Given the description of an element on the screen output the (x, y) to click on. 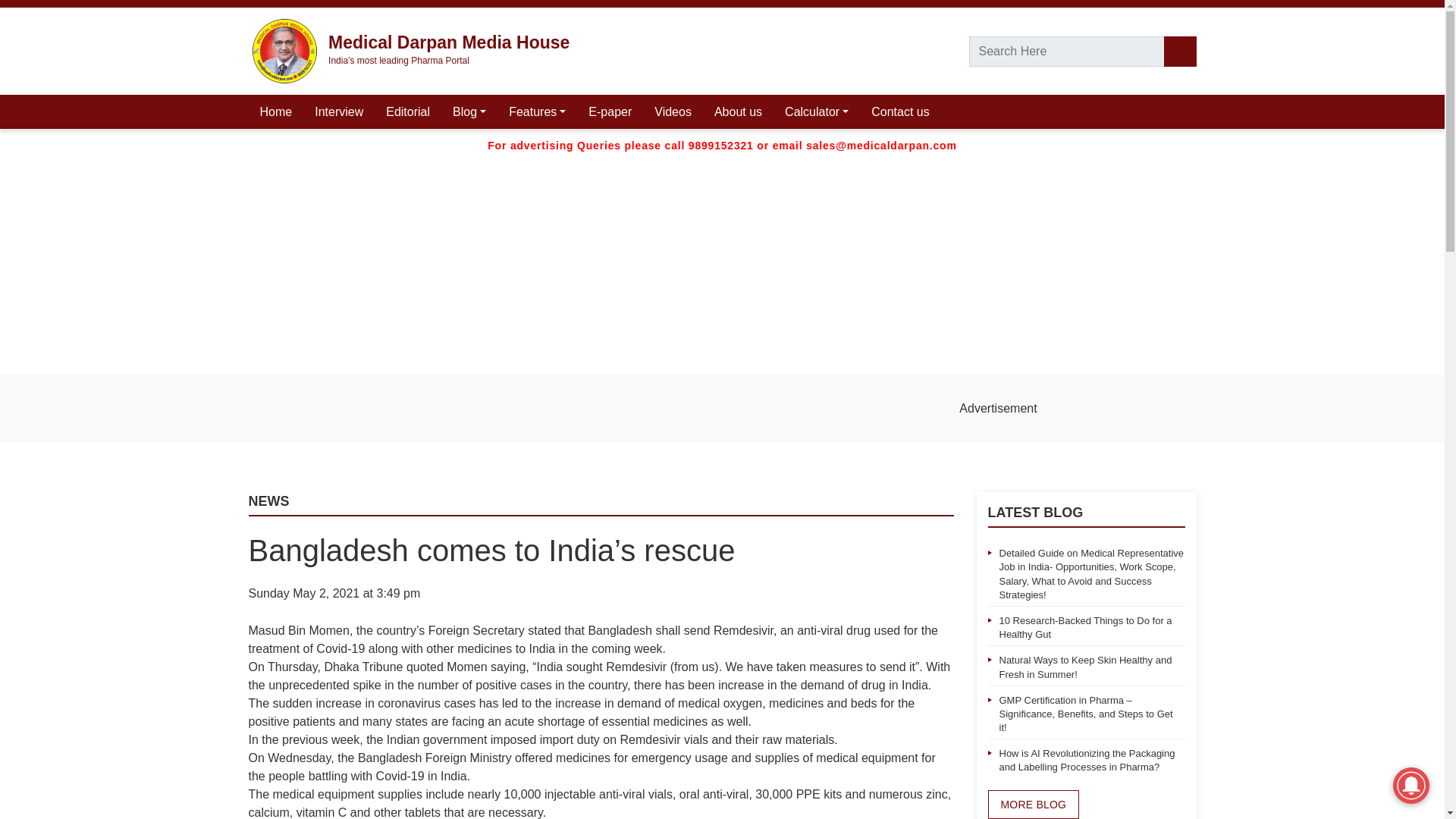
Features (536, 111)
Interview (338, 111)
Home (276, 111)
Editorial (407, 111)
Blog (469, 111)
E-paper (609, 111)
search (1179, 51)
Blog (469, 111)
Editorial (407, 111)
Home (276, 111)
Interview (338, 111)
